Given the description of an element on the screen output the (x, y) to click on. 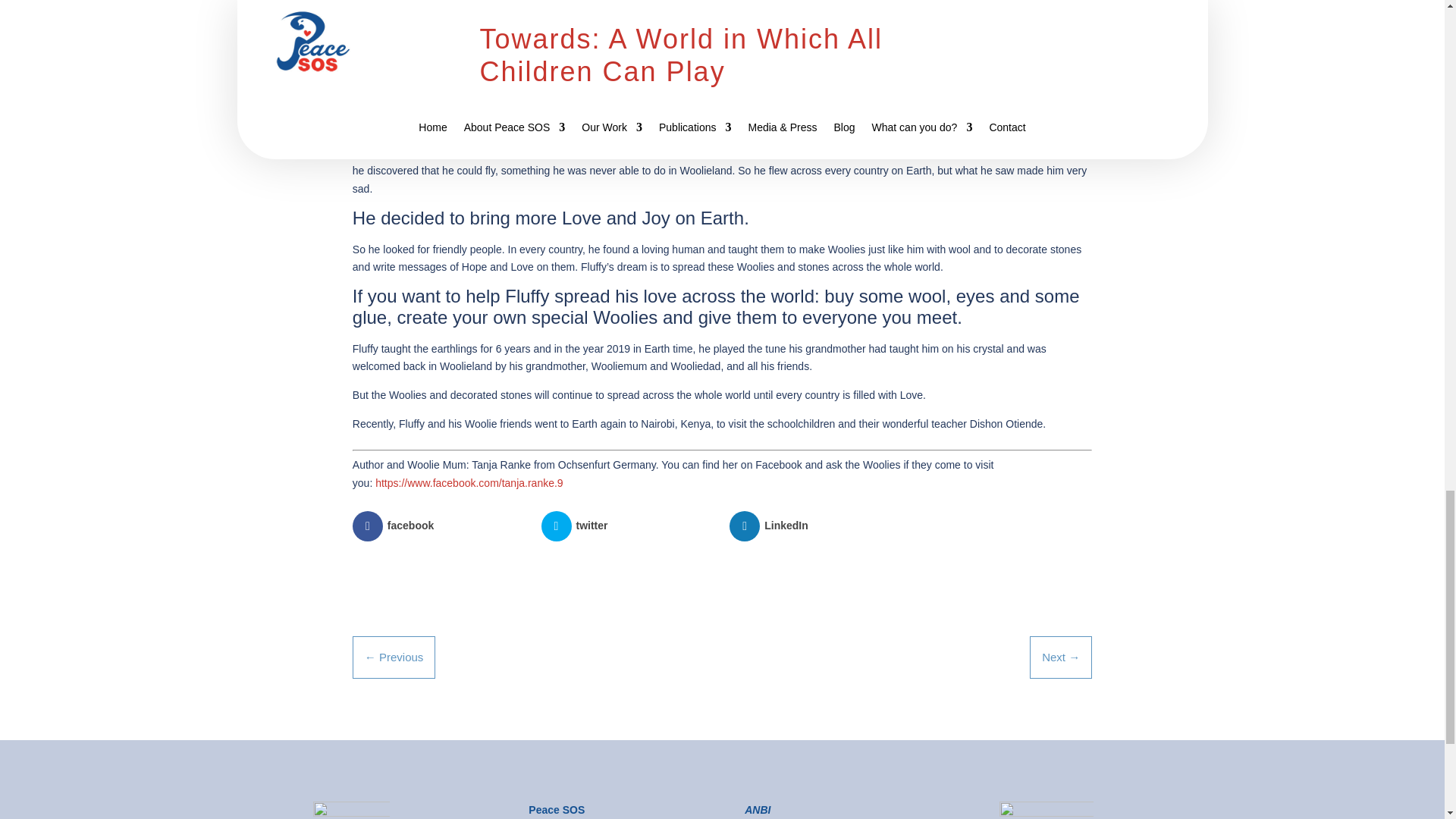
facebook (438, 526)
LinkedIn (815, 526)
twitter (627, 526)
